Given the description of an element on the screen output the (x, y) to click on. 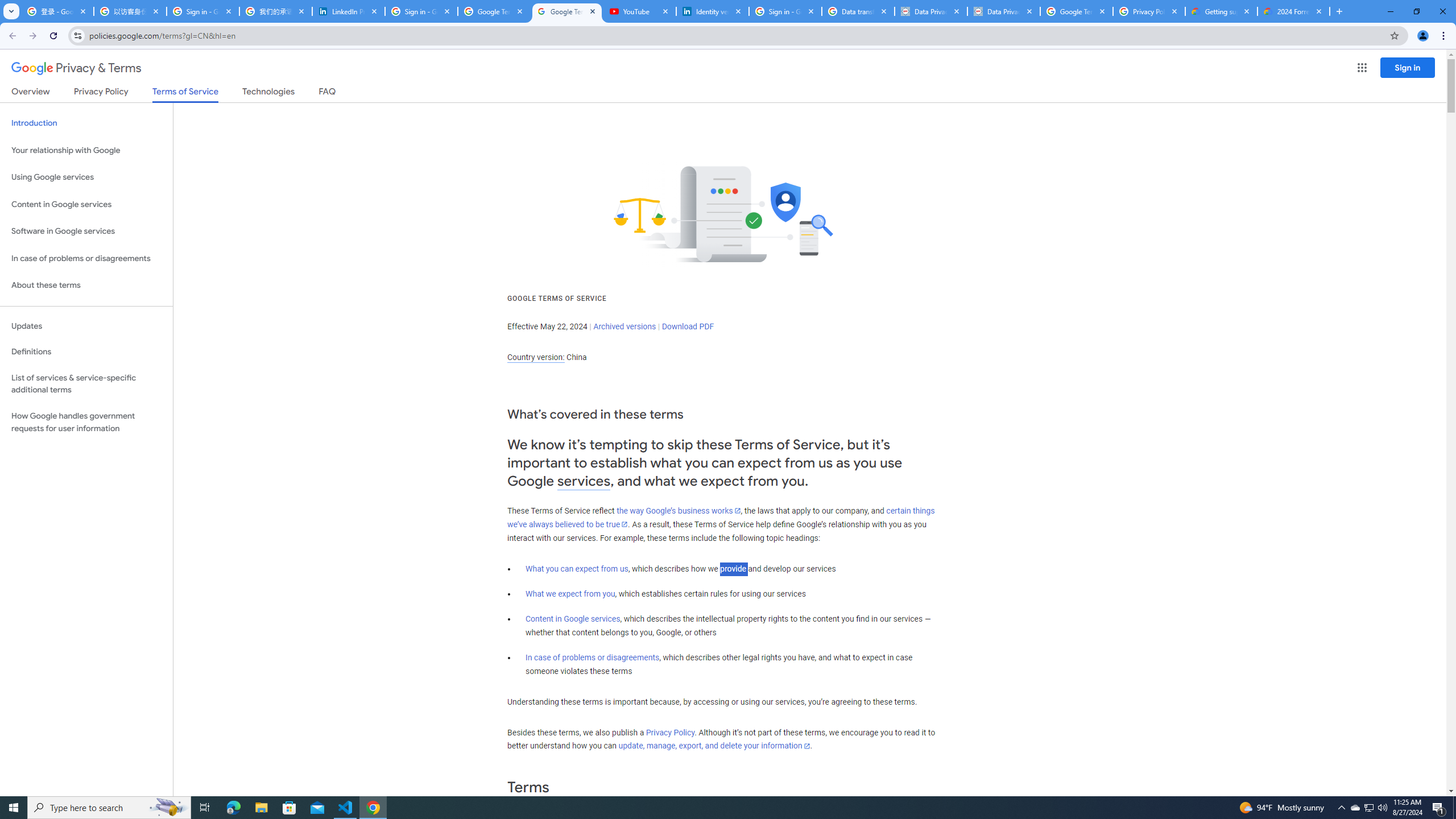
Software in Google services (86, 230)
Using Google services (86, 176)
Sign in - Google Accounts (202, 11)
YouTube (639, 11)
services (583, 480)
